Given the description of an element on the screen output the (x, y) to click on. 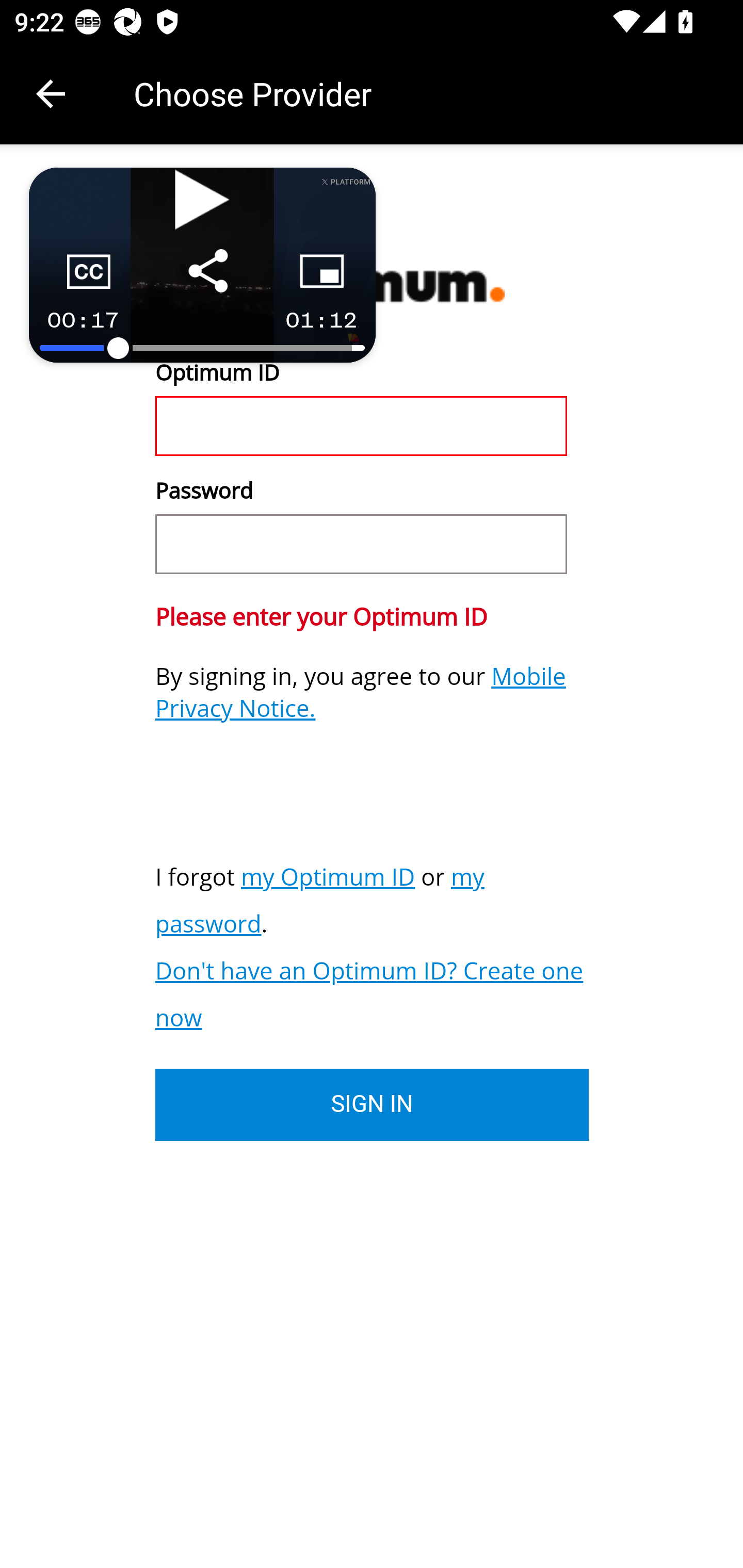
Navigate up (50, 93)
Mobile Privacy Notice. (360, 691)
my password (320, 899)
my Optimum ID (327, 876)
Don't have an Optimum ID? Create one now (370, 993)
SIGN IN (371, 1103)
